Given the description of an element on the screen output the (x, y) to click on. 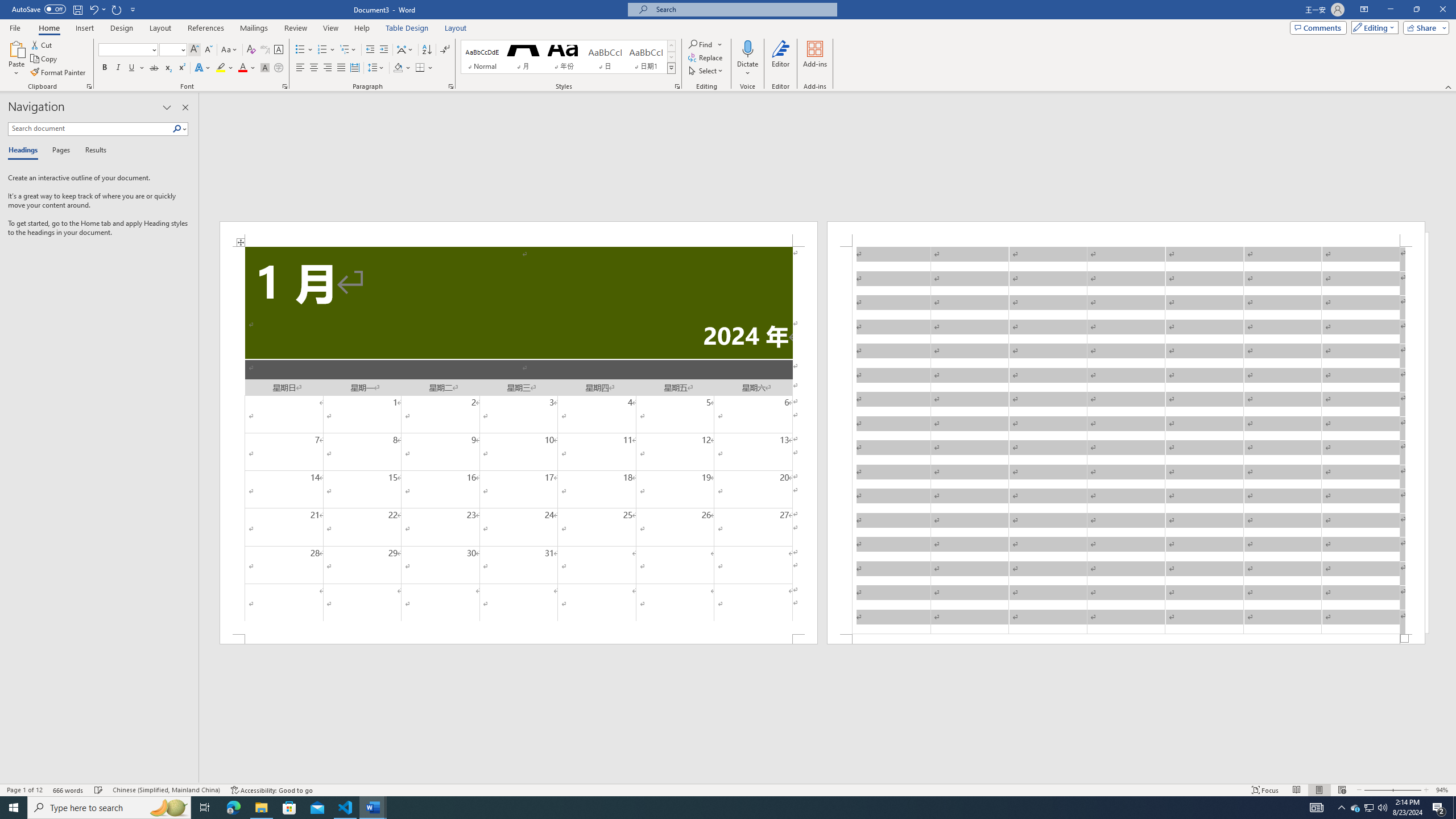
Font Color RGB(255, 0, 0) (241, 67)
